Given the description of an element on the screen output the (x, y) to click on. 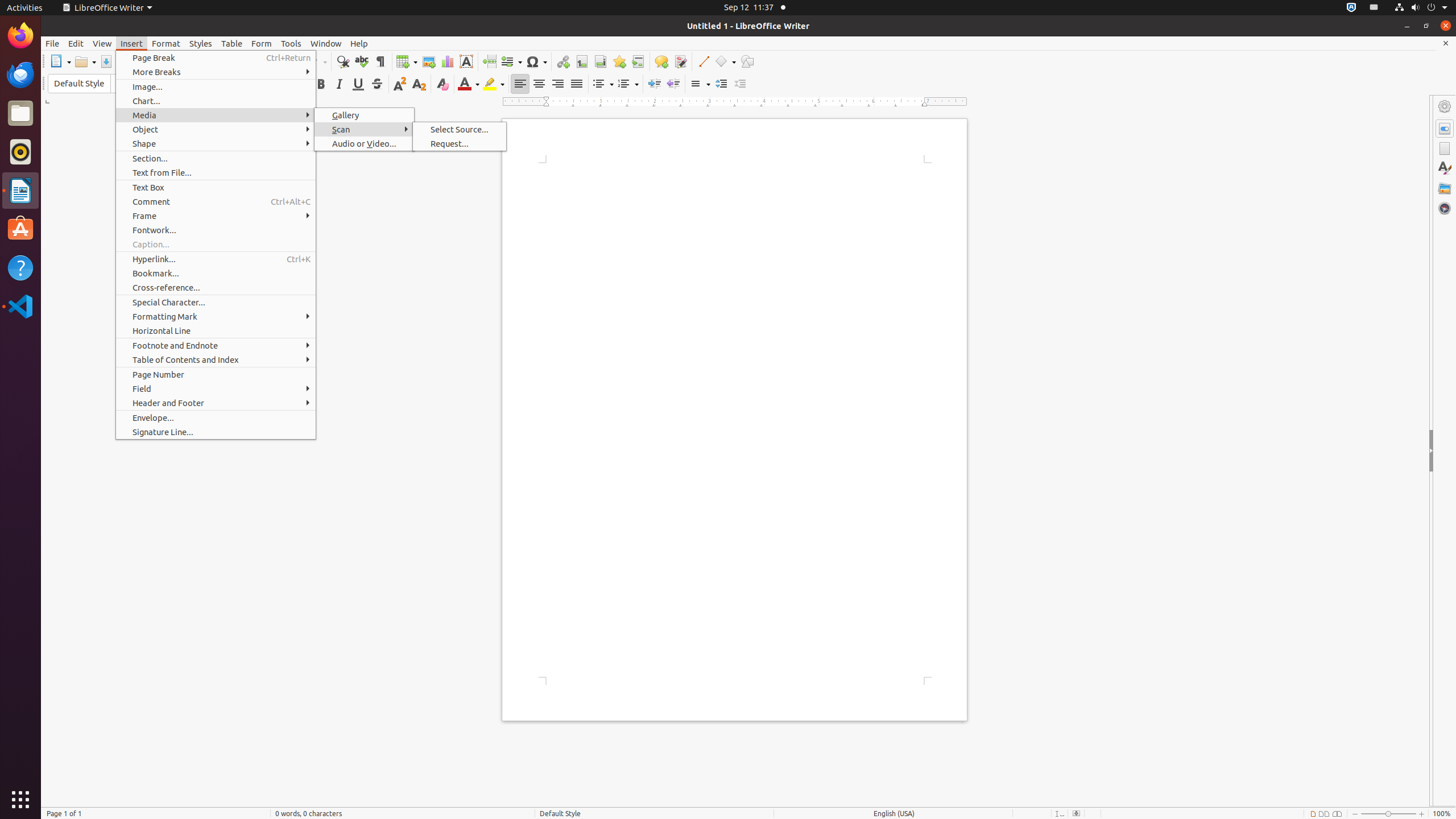
Page Element type: radio-button (1444, 148)
Table Element type: push-button (406, 61)
Frame Element type: menu (215, 215)
Image Element type: push-button (428, 61)
Comment Element type: menu-item (215, 201)
